Given the description of an element on the screen output the (x, y) to click on. 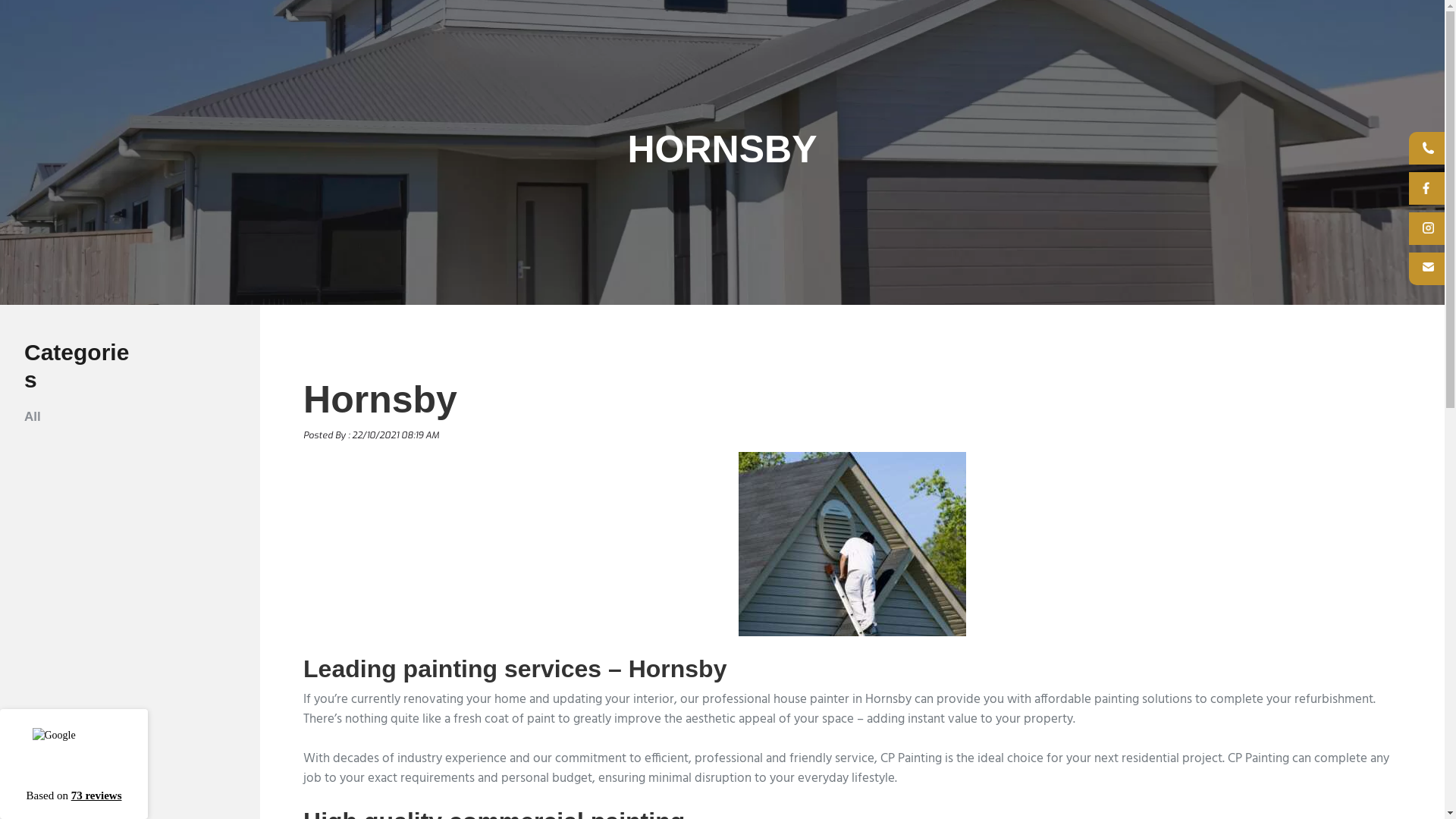
All Element type: text (32, 416)
